Given the description of an element on the screen output the (x, y) to click on. 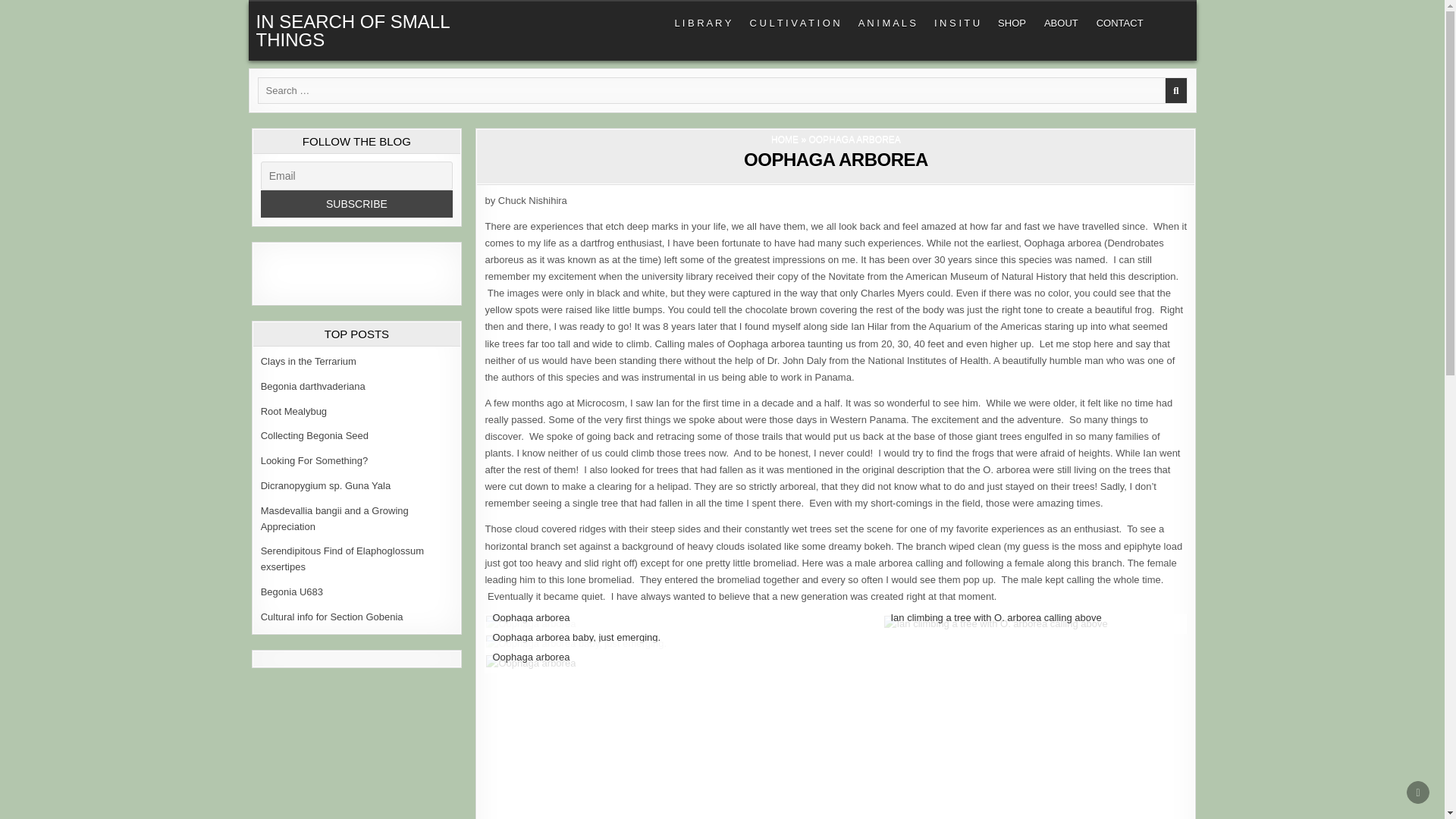
Begonia U683 (291, 591)
Facebook (278, 273)
SCROLL TO TOP (1417, 792)
Looking For Something? (314, 460)
IN SEARCH OF SMALL THINGS (352, 30)
A N I M A L S (886, 22)
OOPHAGA ARBOREA (836, 159)
CONTACT (1120, 22)
Dicranopygium sp. Guna Yala (325, 485)
Begonia darthvaderiana (312, 386)
